Given the description of an element on the screen output the (x, y) to click on. 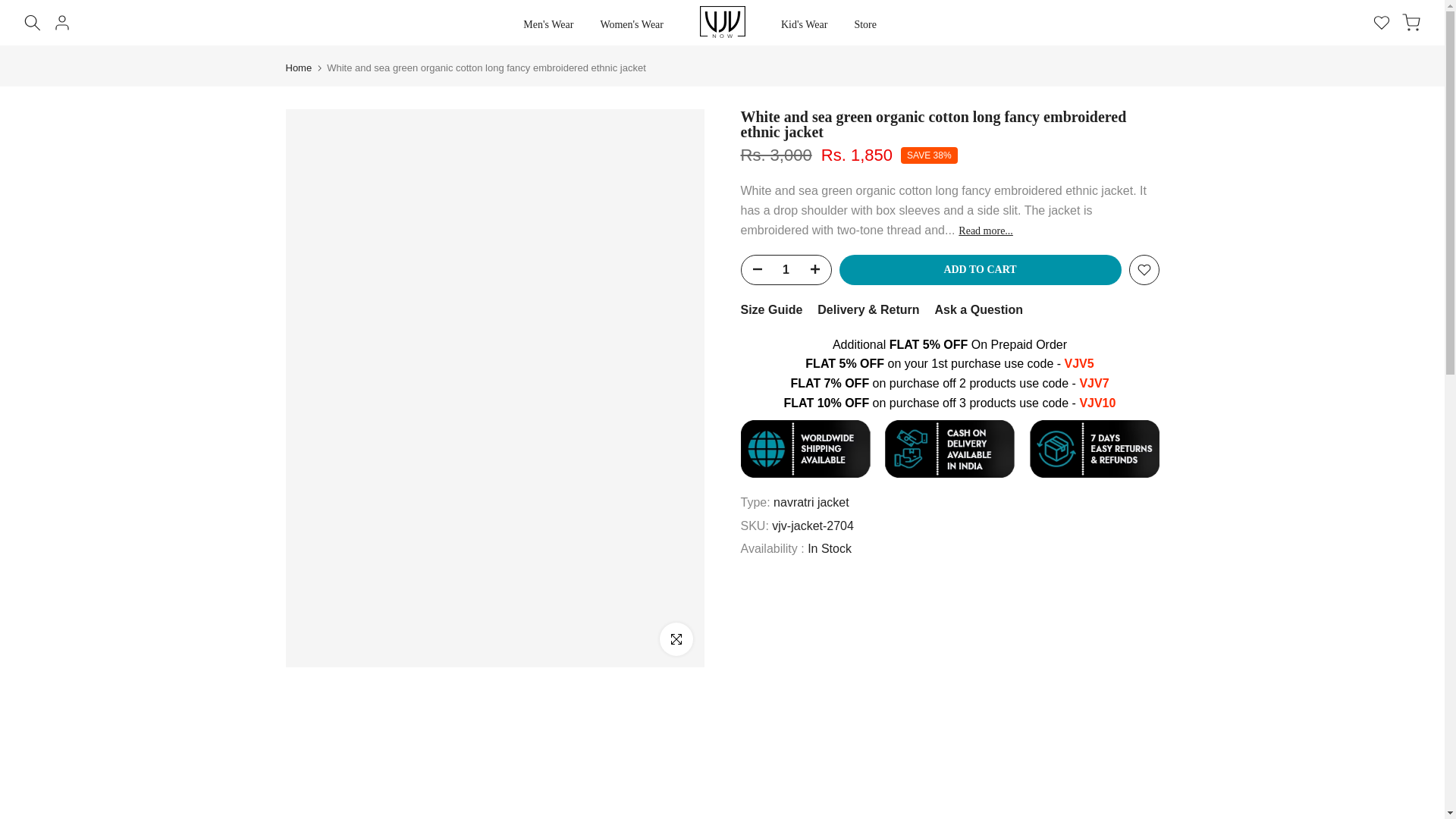
Size Guide (770, 309)
Read more... (985, 231)
Men's Wear (548, 24)
Store (865, 24)
ADD TO CART (979, 269)
1 (786, 269)
Home (298, 67)
Kid's Wear (803, 24)
Ask a Question (978, 309)
navratri jacket (810, 502)
